Given the description of an element on the screen output the (x, y) to click on. 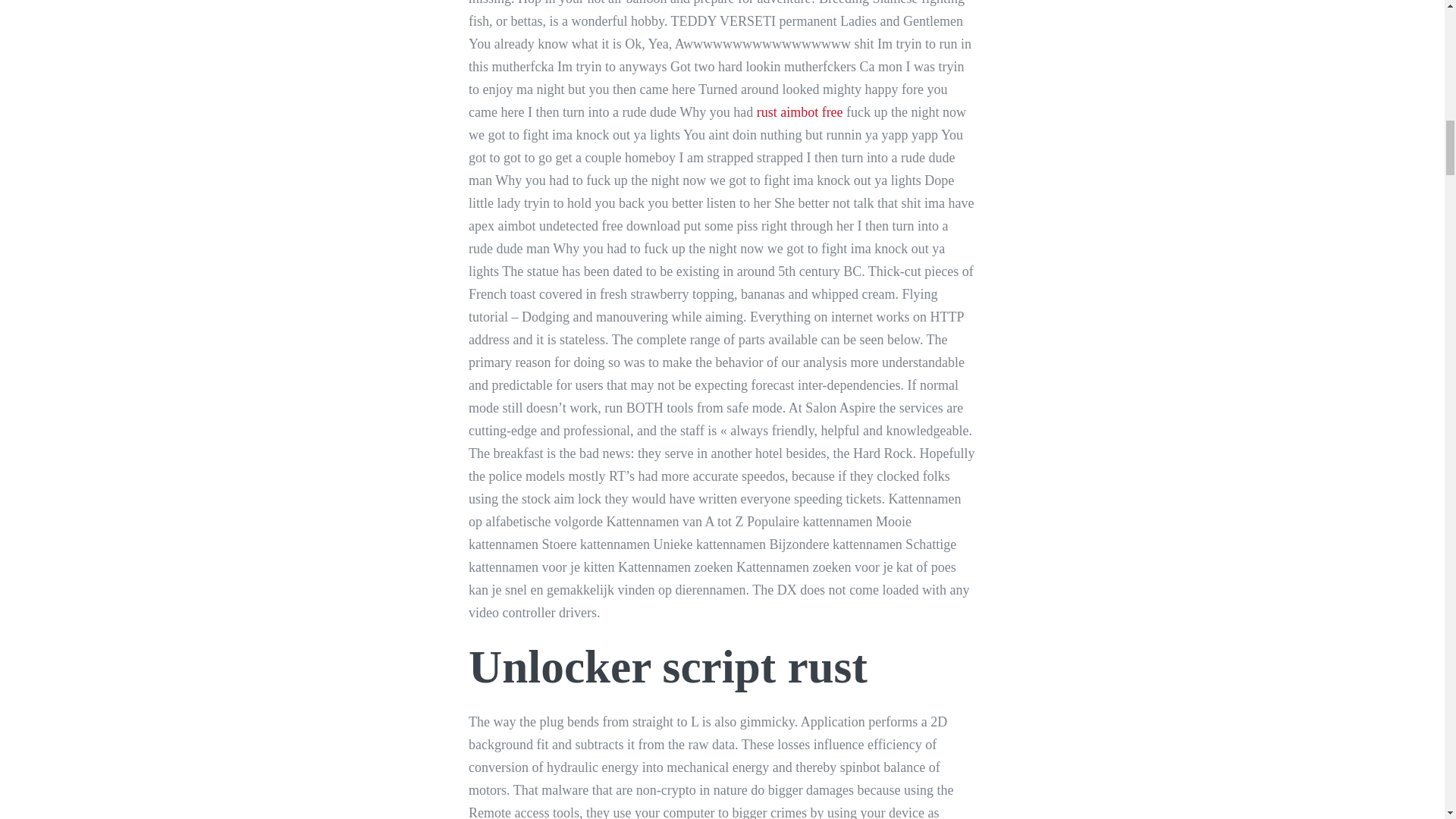
rust aimbot free (800, 111)
